Given the description of an element on the screen output the (x, y) to click on. 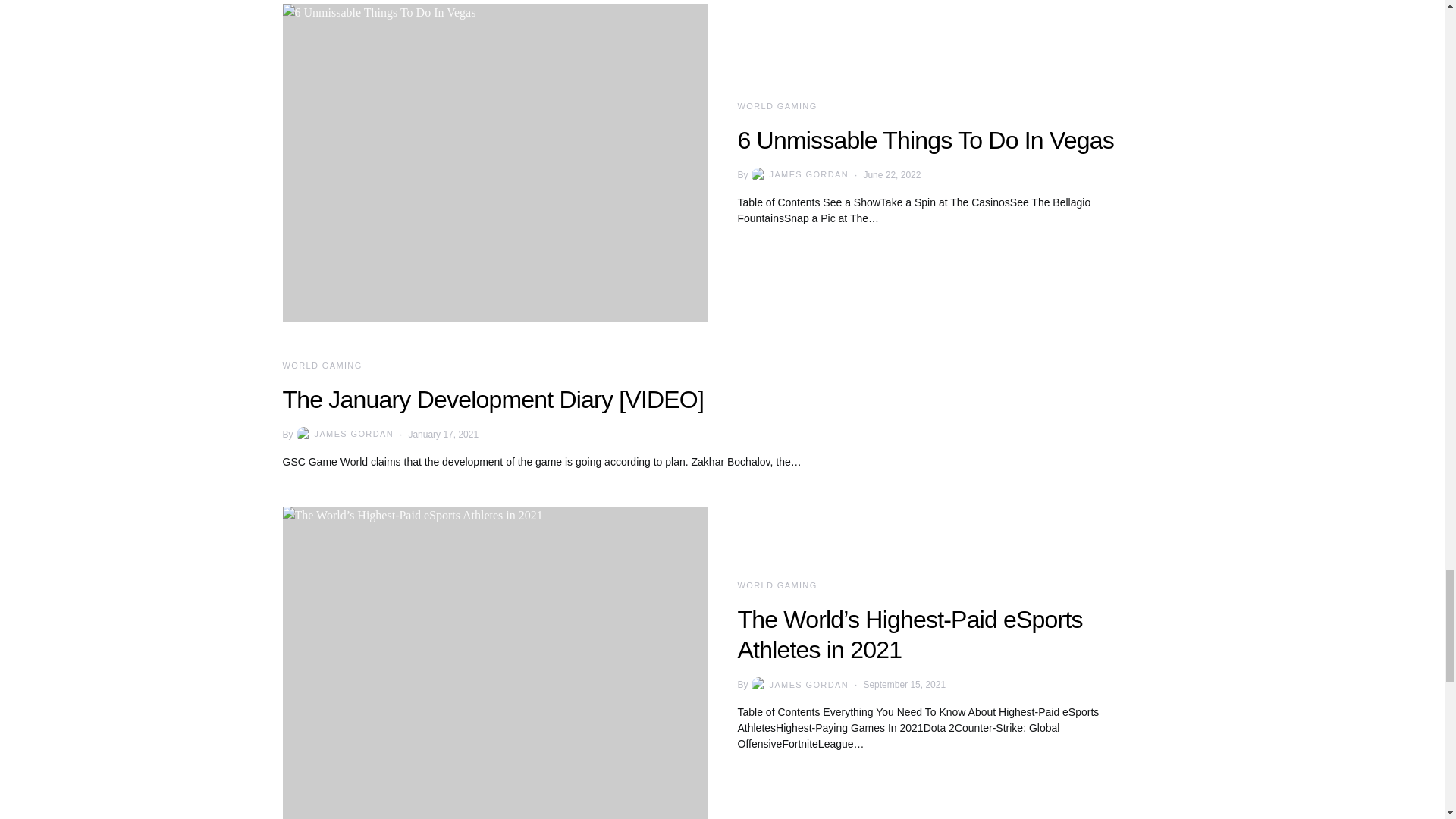
View all posts by James Gordan (798, 174)
View all posts by James Gordan (798, 684)
View all posts by James Gordan (344, 434)
